Given the description of an element on the screen output the (x, y) to click on. 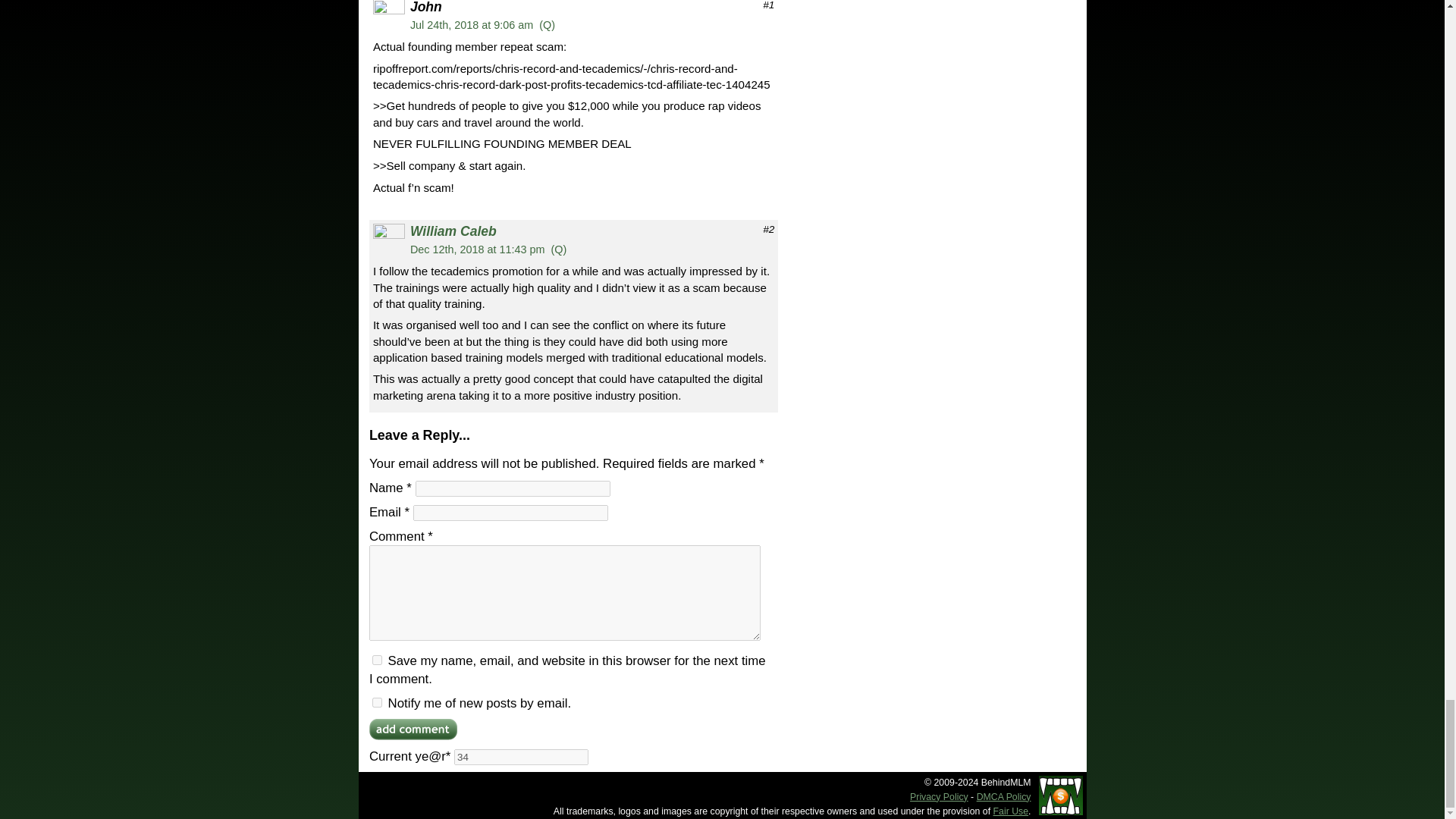
34 (521, 756)
Click here or select text to quote comment (558, 249)
William Caleb (453, 231)
Jul 24th, 2018 at 9:06 am (471, 24)
yes (376, 660)
Dec 12th, 2018 at 11:43 pm (477, 249)
subscribe (376, 702)
Click here or select text to quote comment (546, 24)
